Given the description of an element on the screen output the (x, y) to click on. 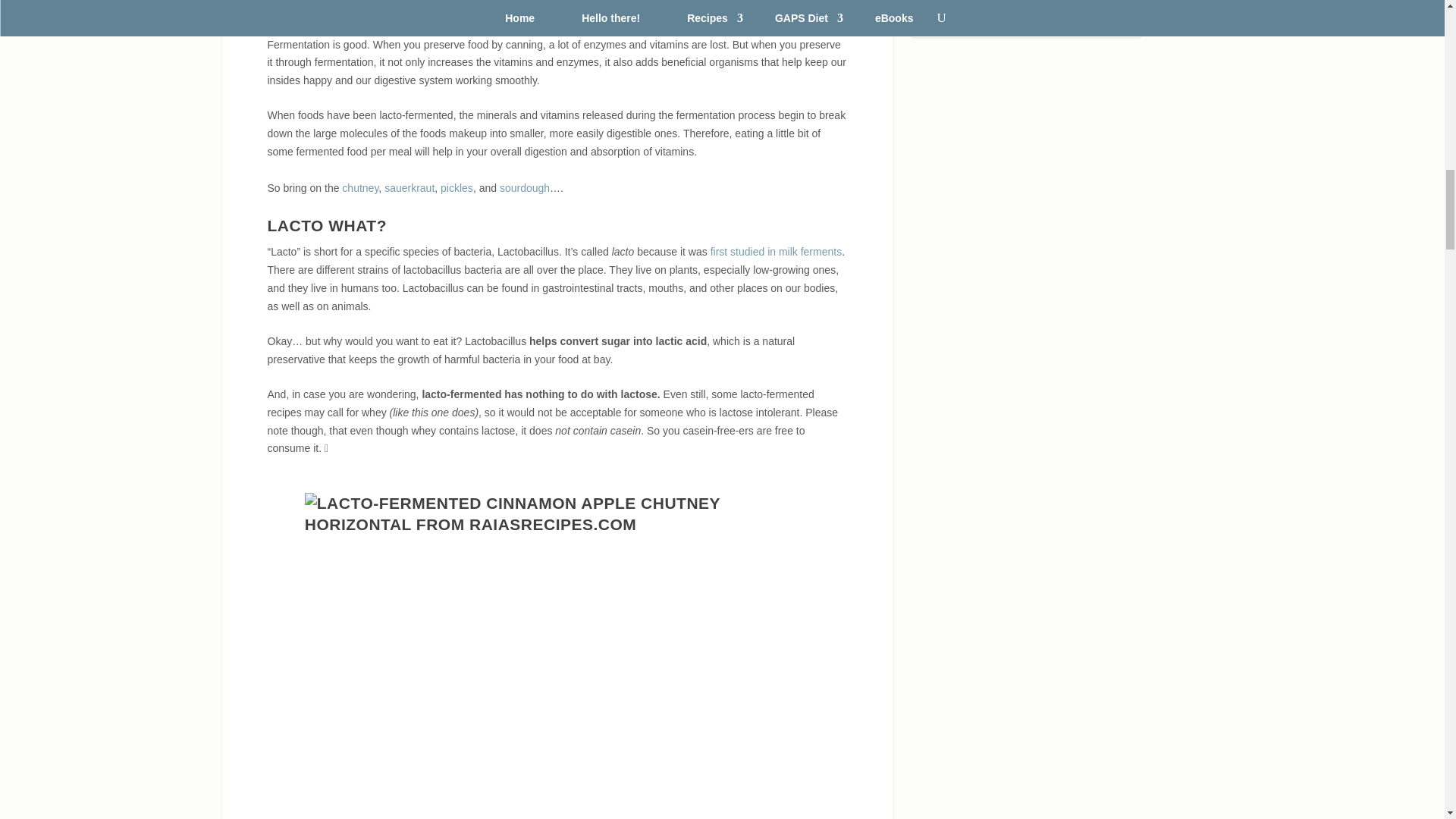
sourdough (524, 187)
chutney (360, 187)
pickles (457, 187)
sauerkraut (408, 187)
